Given the description of an element on the screen output the (x, y) to click on. 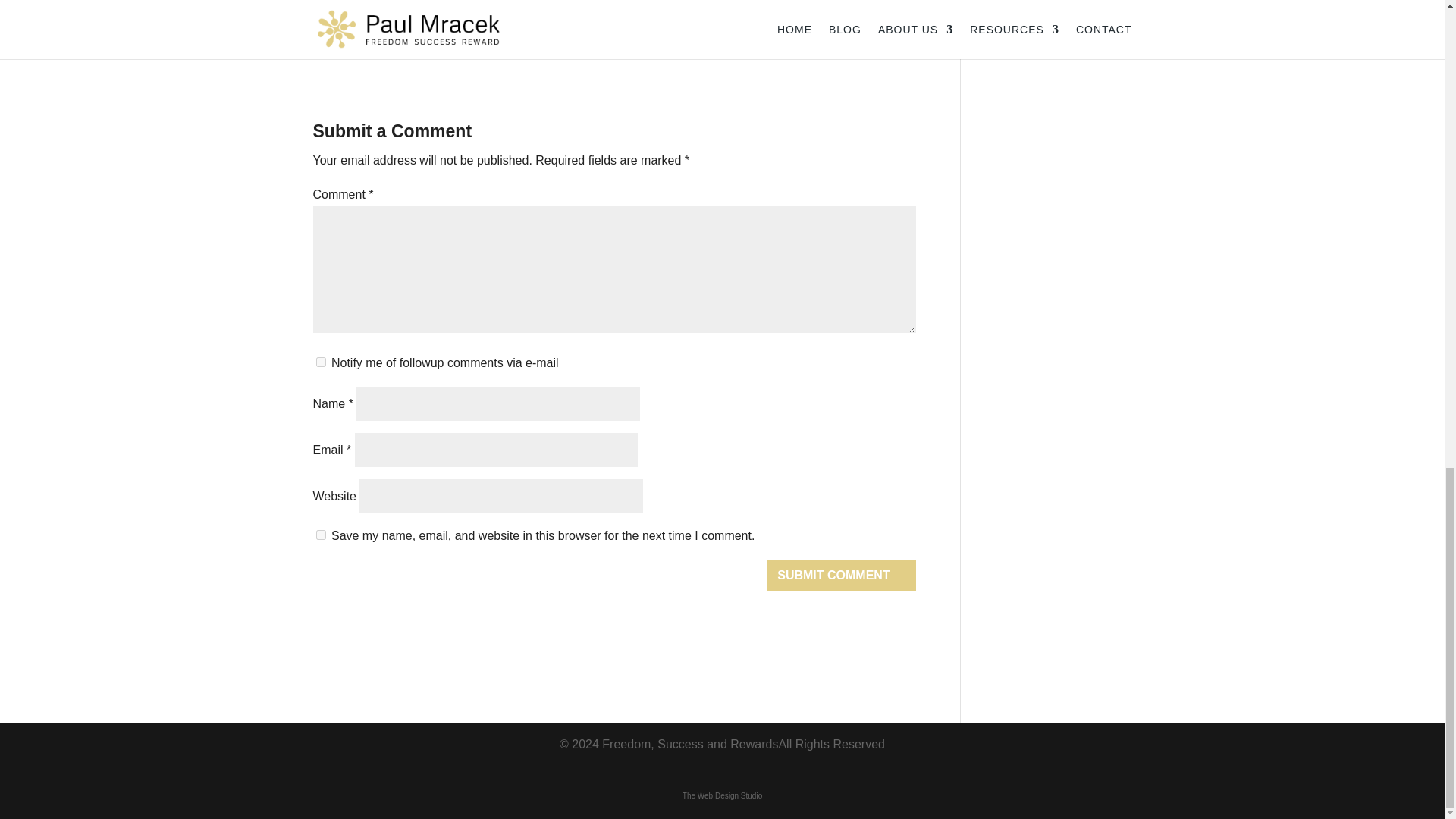
Submit Comment (841, 574)
subscribe (319, 361)
Article Source (350, 39)
The Web Design Studio (721, 795)
yes (319, 534)
Submit Comment (841, 574)
